Given the description of an element on the screen output the (x, y) to click on. 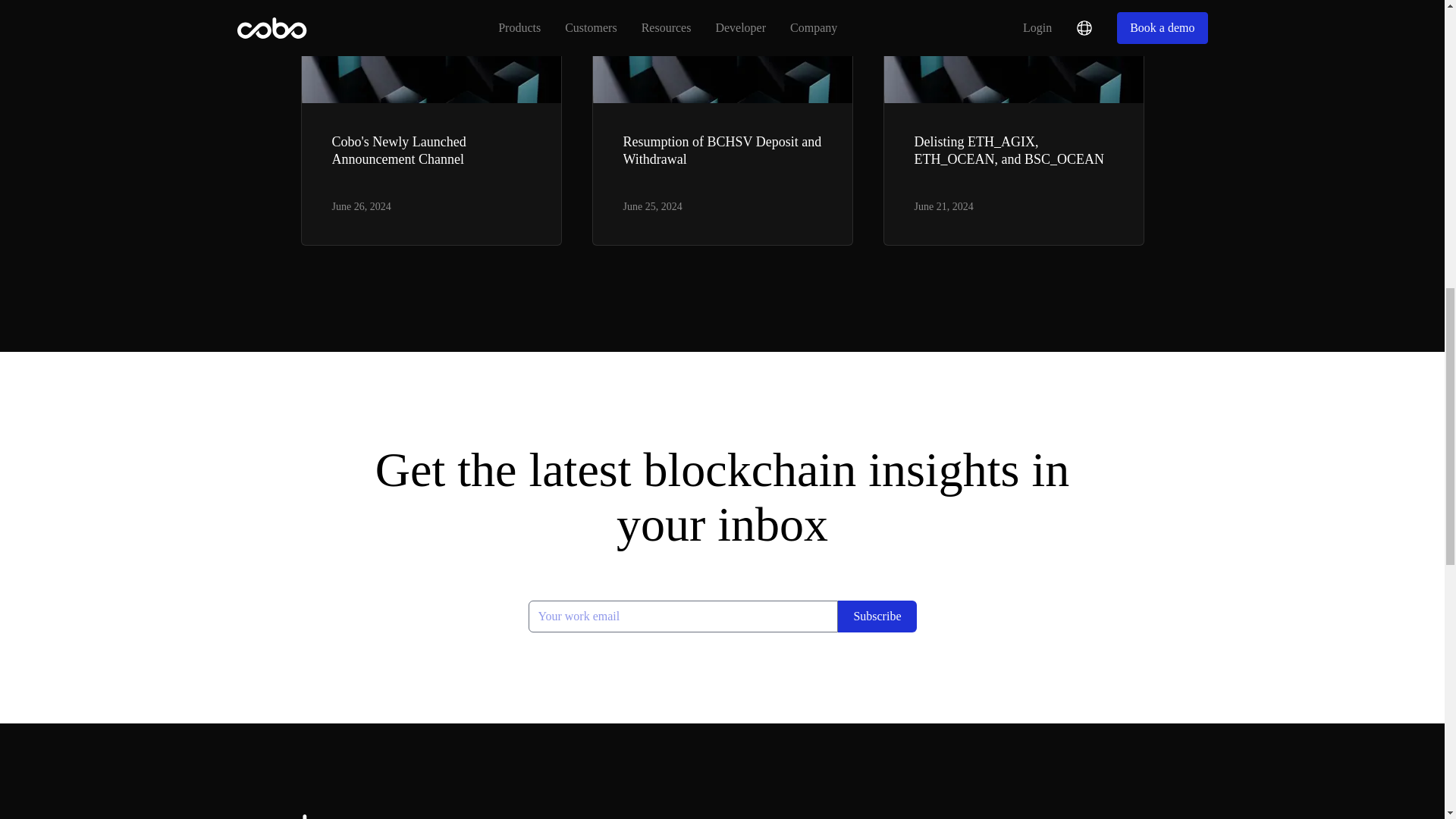
Subscribe (876, 616)
